Given the description of an element on the screen output the (x, y) to click on. 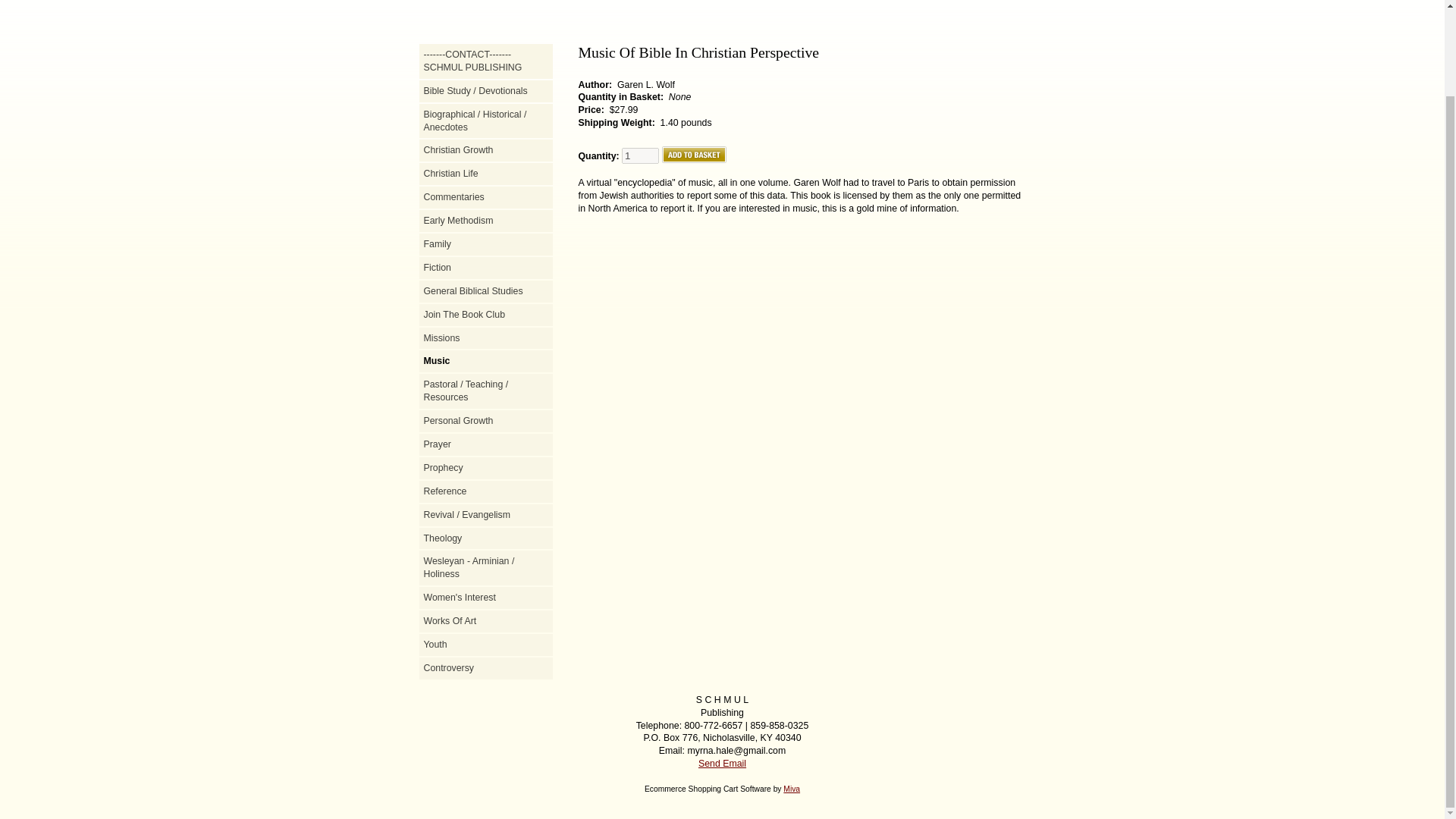
Commentaries (485, 196)
Works Of Art (485, 621)
General Biblical Studies (485, 291)
Christian Life (485, 173)
Miva (791, 788)
Prophecy (485, 468)
Prayer (485, 444)
Join The Book Club (485, 314)
Missions (485, 338)
Send Email (721, 763)
